Given the description of an element on the screen output the (x, y) to click on. 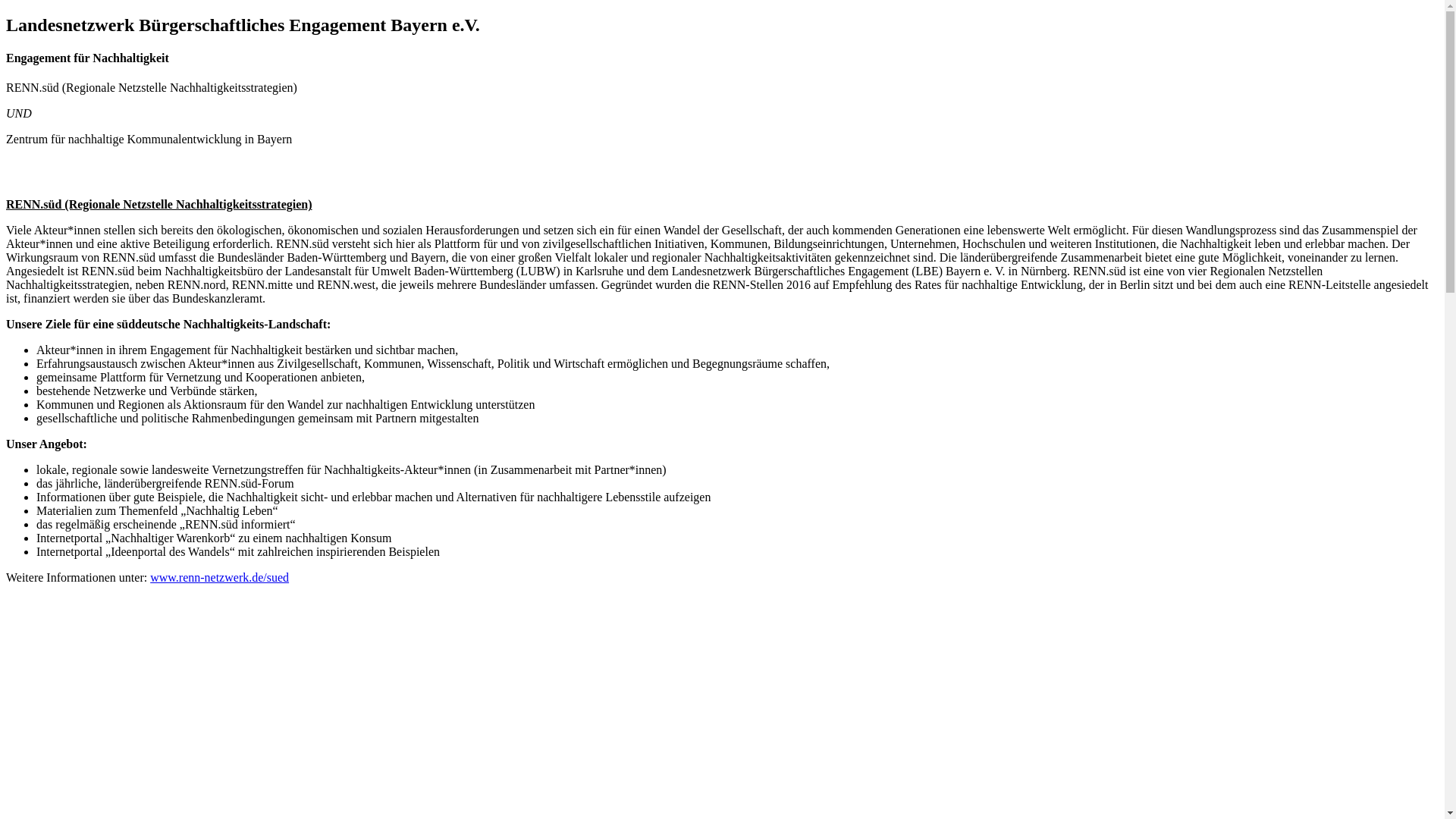
www.renn-netzwerk.de/sued Element type: text (219, 577)
